Given the description of an element on the screen output the (x, y) to click on. 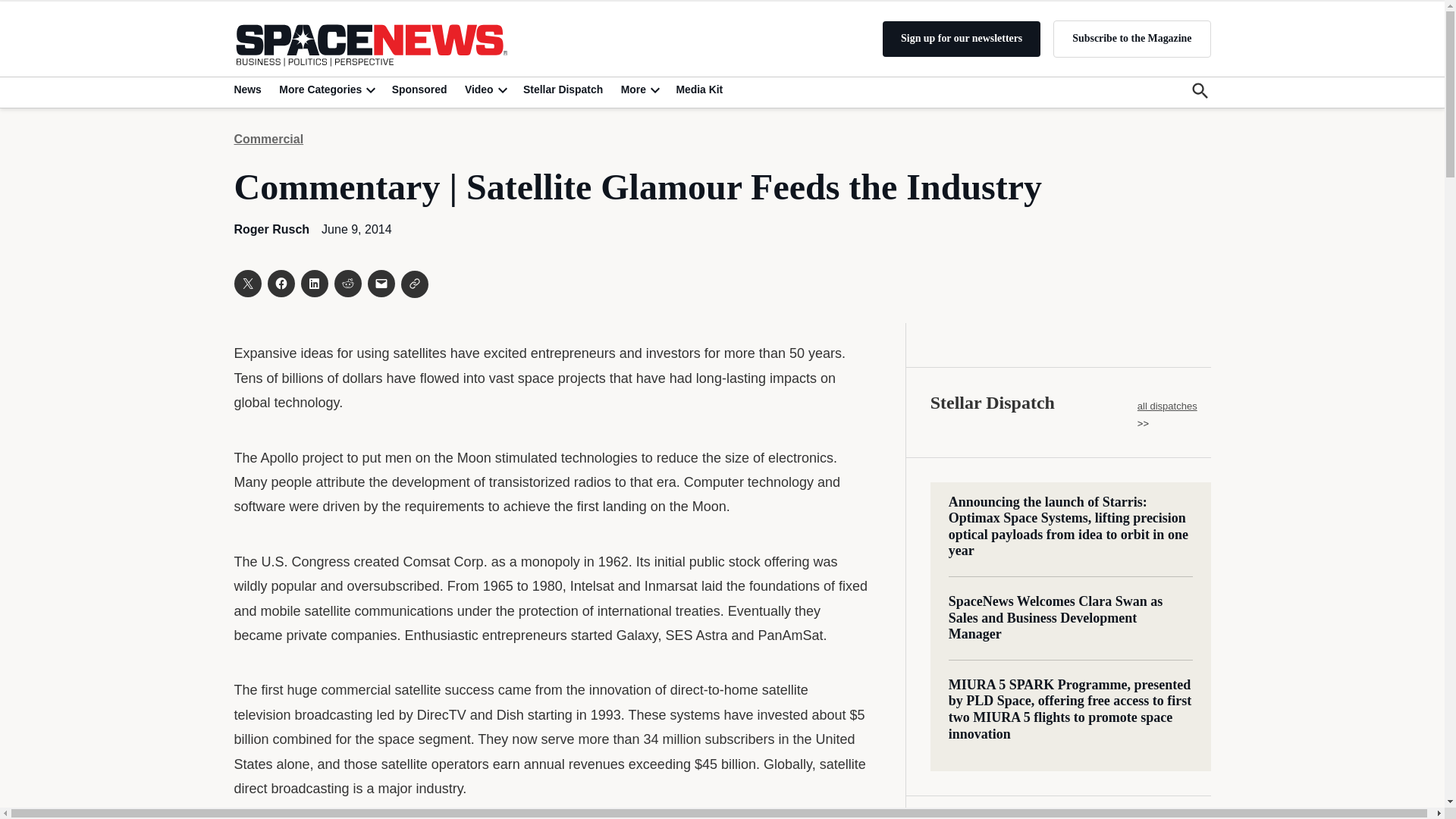
Click to email a link to a friend (380, 283)
Click to share on Clipboard (414, 284)
Click to share on LinkedIn (313, 283)
Click to share on Reddit (347, 283)
Sign up for our newsletters (961, 38)
Click to share on X (246, 283)
Subscribe to the Magazine (1130, 38)
Click to share on Facebook (280, 283)
